Given the description of an element on the screen output the (x, y) to click on. 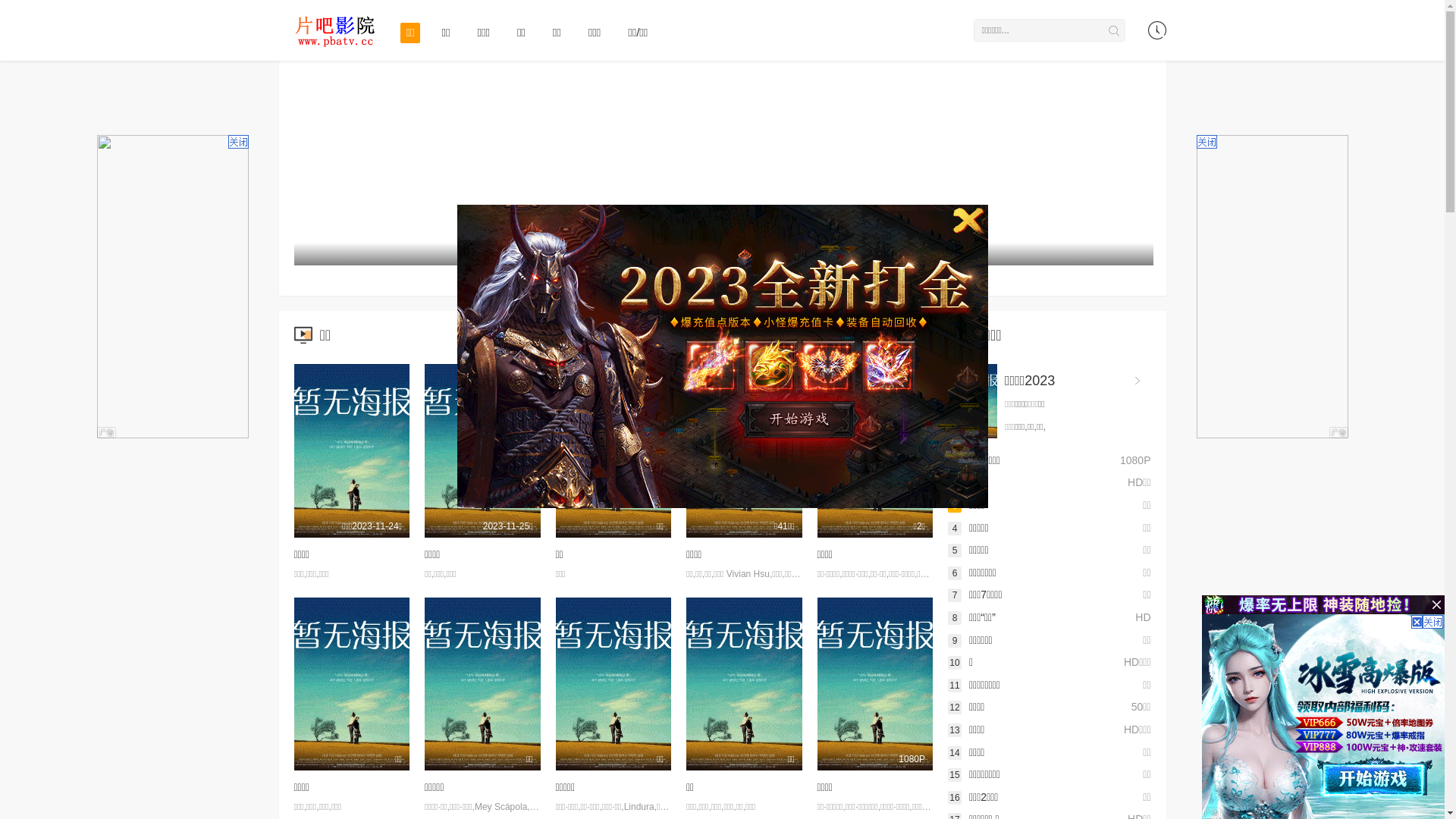
1080P Element type: text (875, 684)
